Given the description of an element on the screen output the (x, y) to click on. 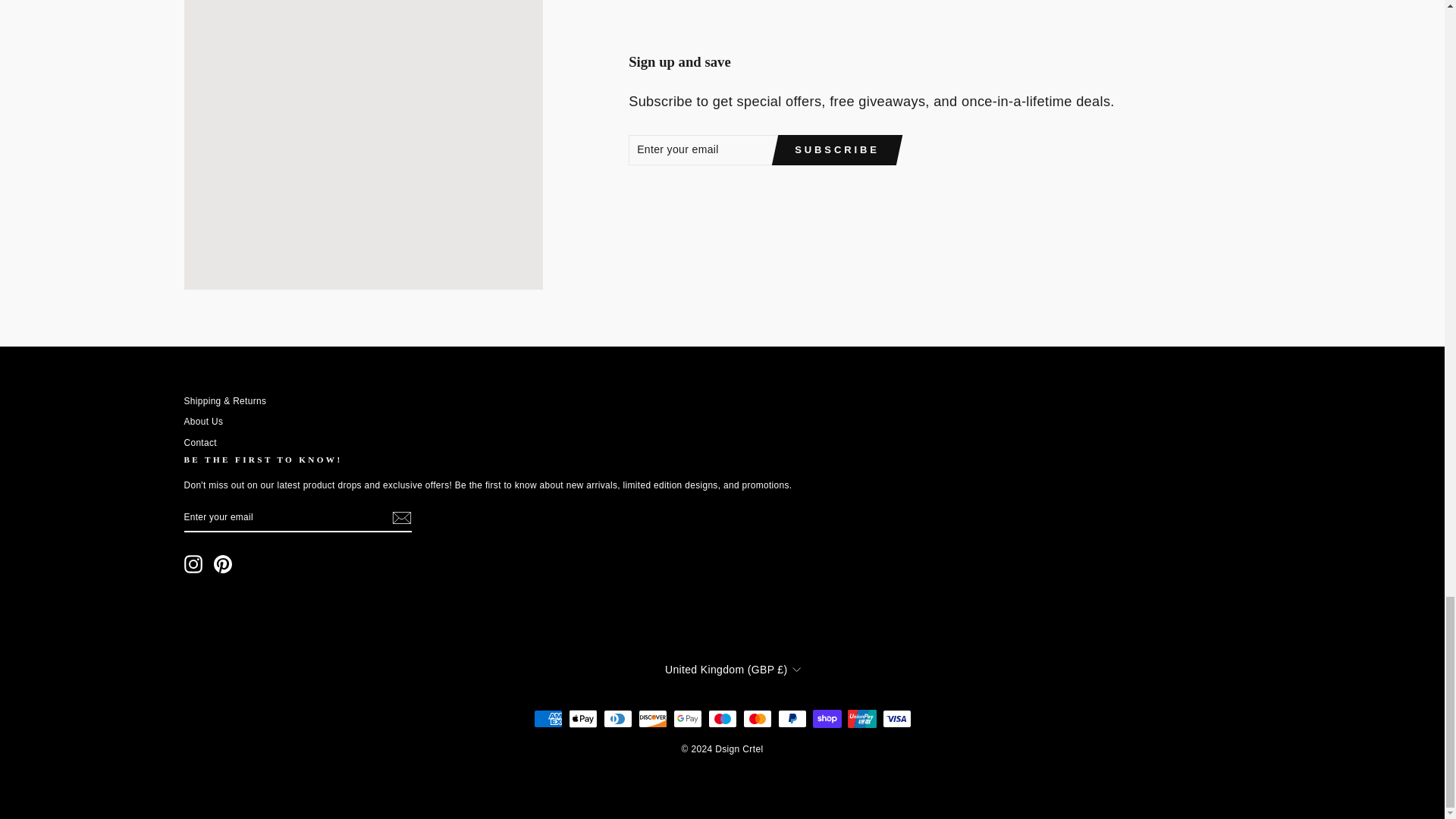
Mastercard (756, 719)
Discover (652, 719)
American Express (548, 719)
Google Pay (686, 719)
Dsign Crtel on Instagram (192, 564)
Dsign Crtel on Pinterest (222, 564)
Maestro (721, 719)
PayPal (791, 719)
Apple Pay (582, 719)
instagram (192, 564)
